Given the description of an element on the screen output the (x, y) to click on. 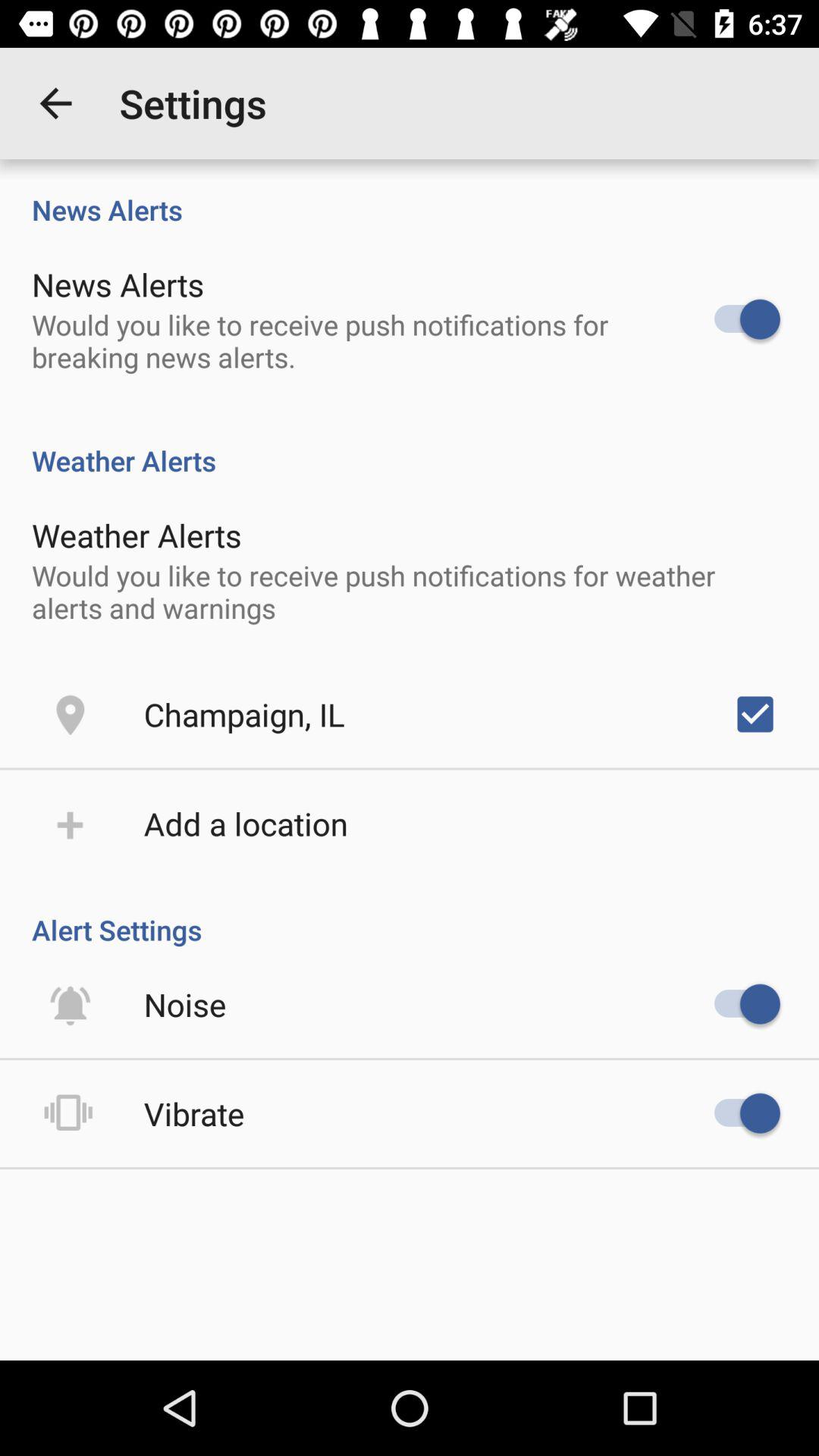
choose item next to the settings  item (55, 103)
